Given the description of an element on the screen output the (x, y) to click on. 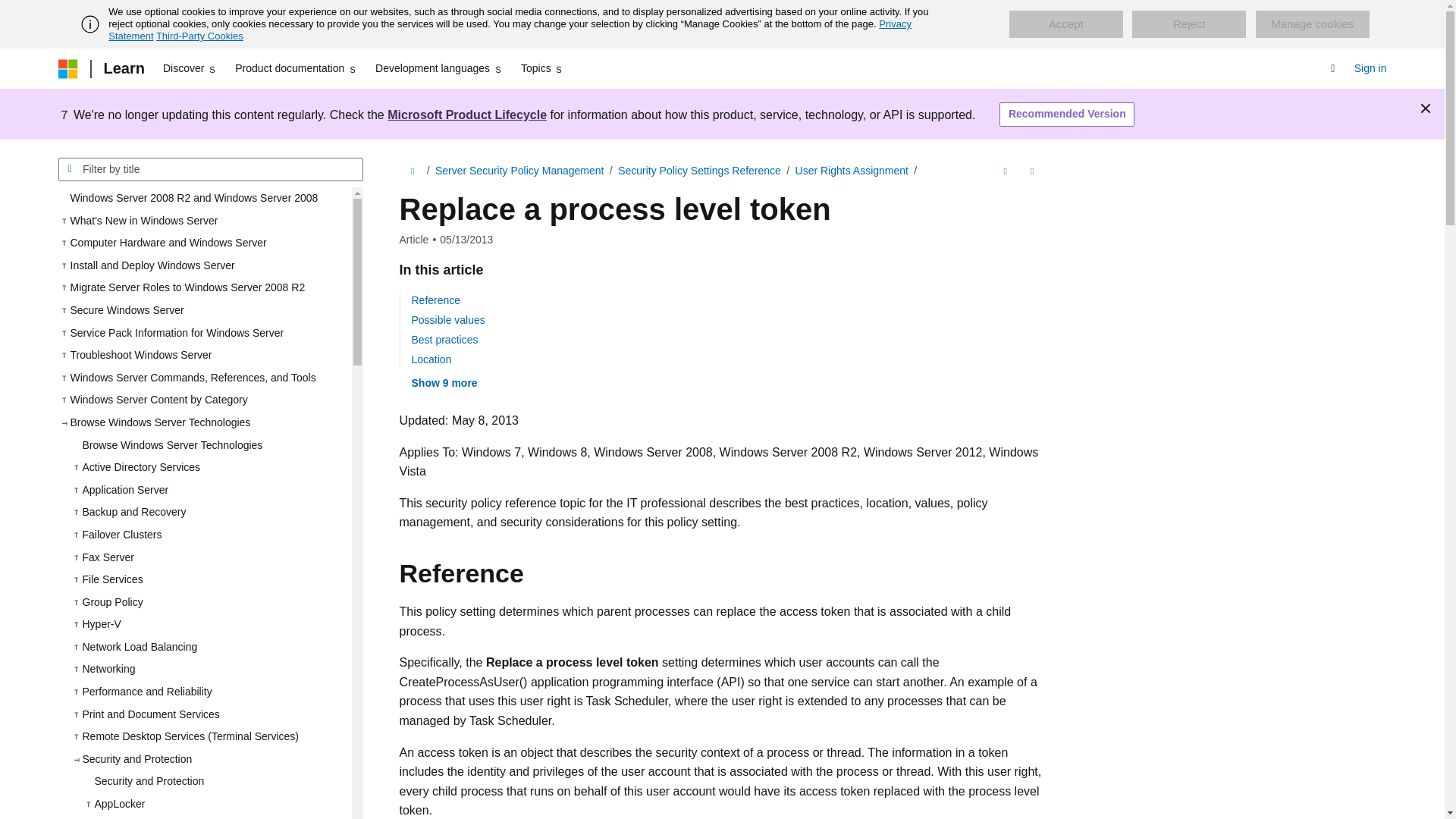
Discover (189, 68)
Recommended Version (1066, 114)
Topics (542, 68)
Security and Protection (215, 781)
Third-Party Cookies (199, 35)
More actions (1031, 170)
Reject (1189, 23)
Microsoft Product Lifecycle (467, 114)
Learn (123, 68)
Dismiss alert (1425, 108)
Skip to main content (11, 11)
Product documentation (295, 68)
Browse Windows Server Technologies (209, 445)
Windows Server 2008 R2 and Windows Server 2008 (204, 198)
Sign in (1370, 68)
